Given the description of an element on the screen output the (x, y) to click on. 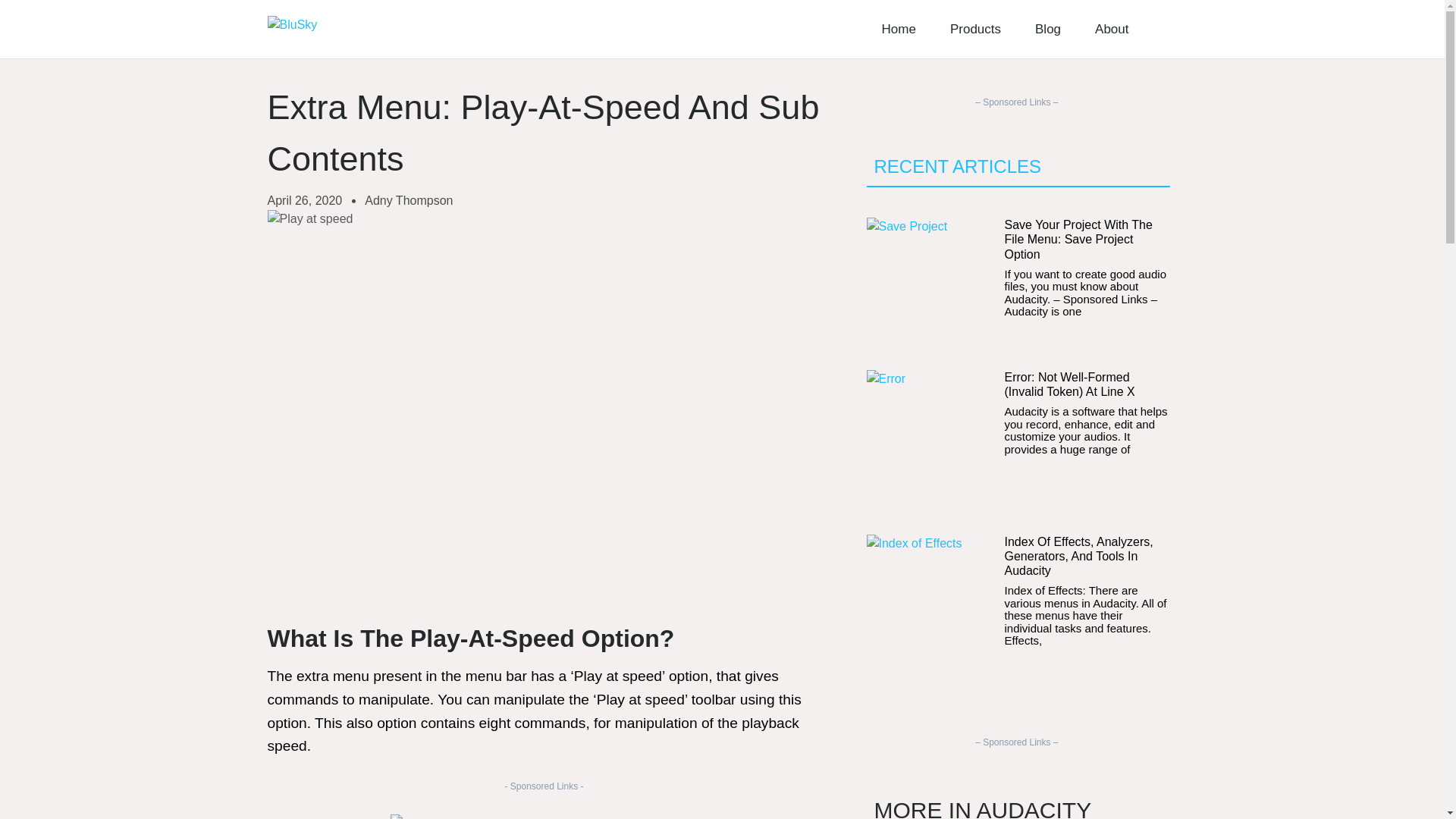
Products (975, 29)
About (1111, 29)
Adny Thompson (408, 200)
Home (898, 29)
Blog (1047, 29)
Save Your Project With The File Menu: Save Project Option (1077, 239)
April 26, 2020 (304, 200)
